Given the description of an element on the screen output the (x, y) to click on. 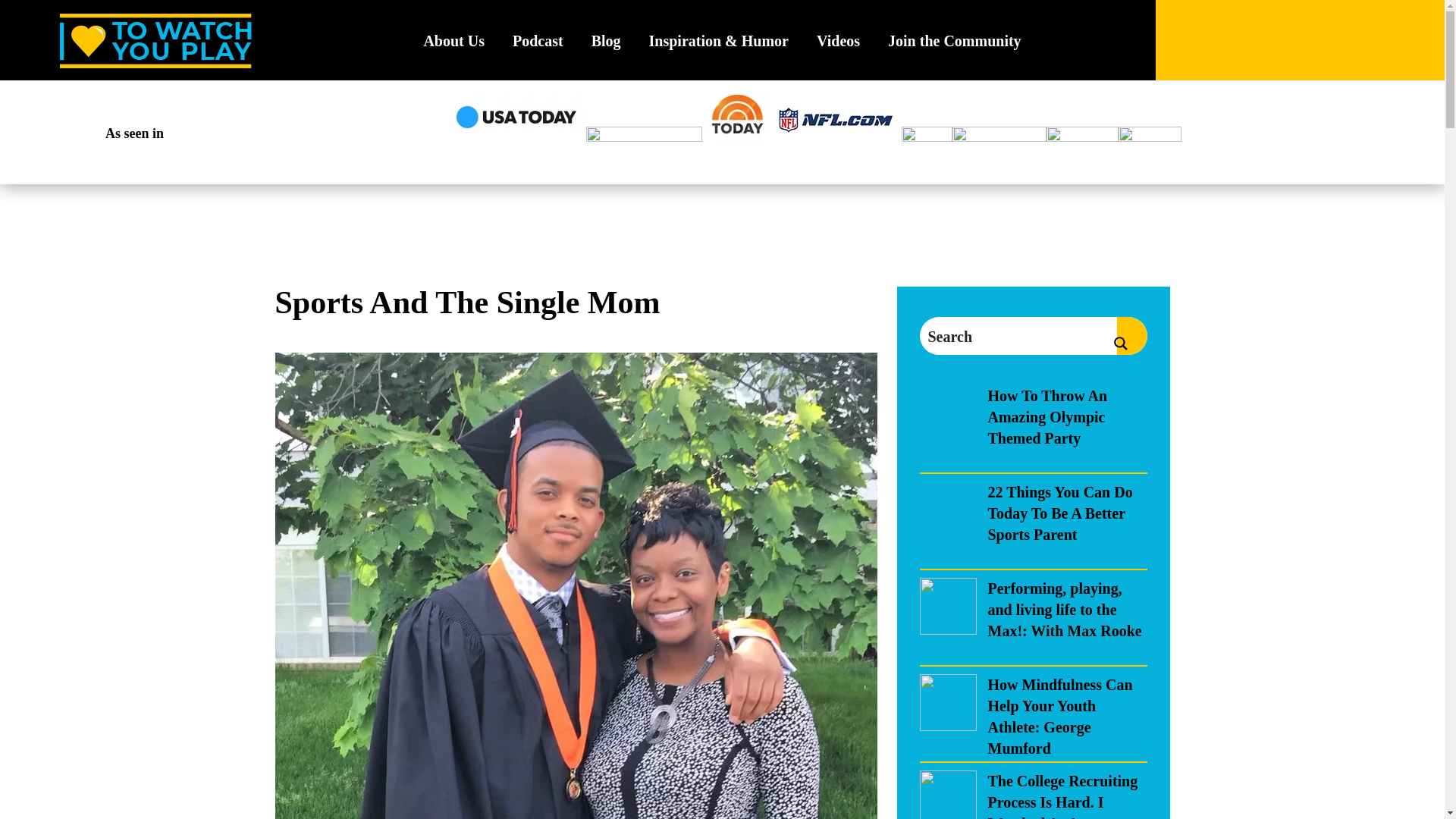
About Us (453, 47)
How To Throw An Amazing Olympic Themed Party (1046, 416)
22 Things You Can Do Today To Be A Better Sports Parent (1059, 513)
How Mindfulness Can Help Your Youth Athlete: George Mumford (1059, 716)
Videos (838, 47)
Join the Community (954, 47)
Podcast (537, 47)
